Given the description of an element on the screen output the (x, y) to click on. 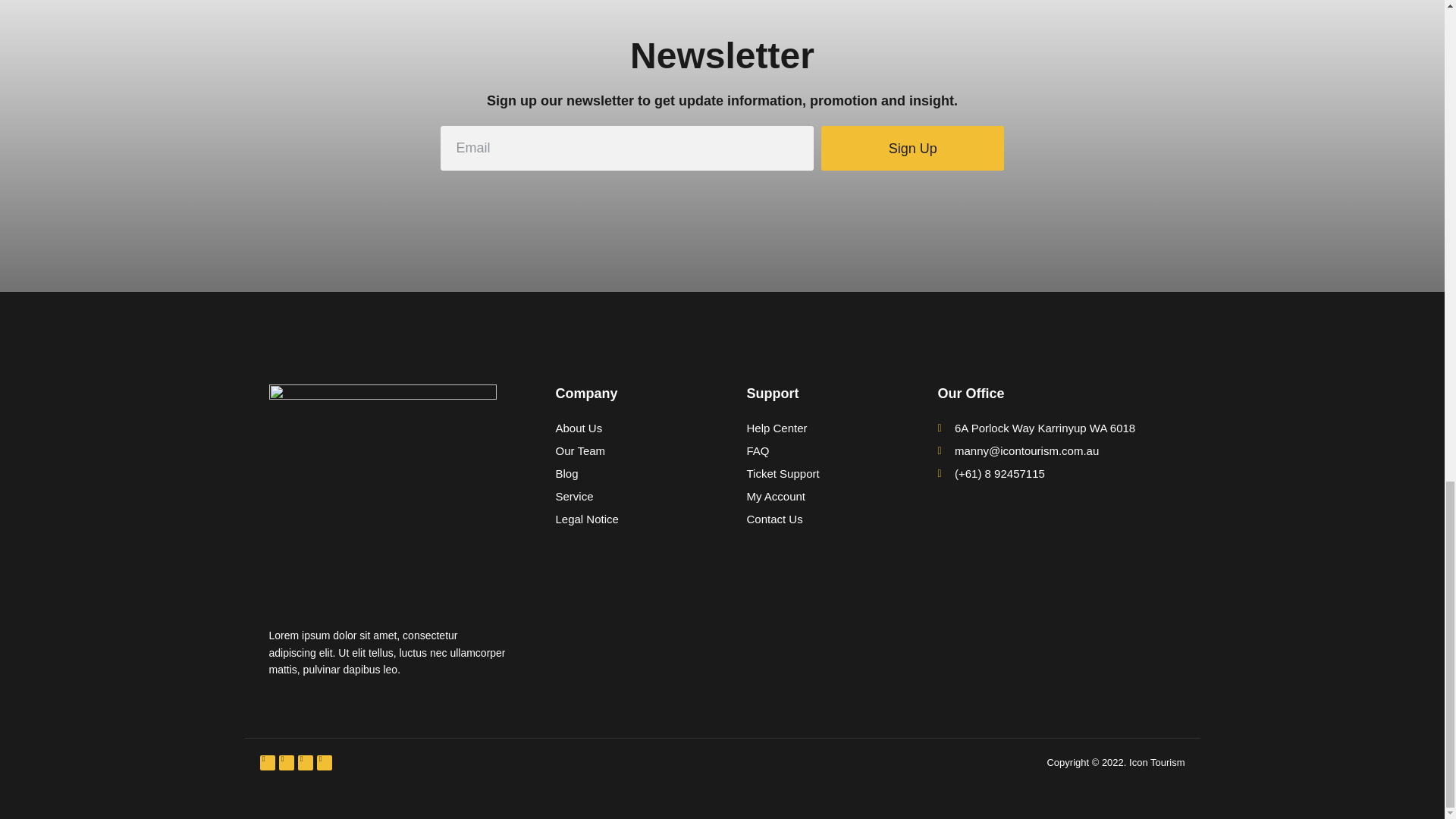
Blog (625, 474)
Service (625, 496)
My Account (816, 496)
Legal Notice (625, 519)
Help Center (816, 428)
Our Team (625, 451)
FAQ (816, 451)
Contact Us (816, 519)
Ticket Support (816, 474)
Sign Up (912, 148)
